Given the description of an element on the screen output the (x, y) to click on. 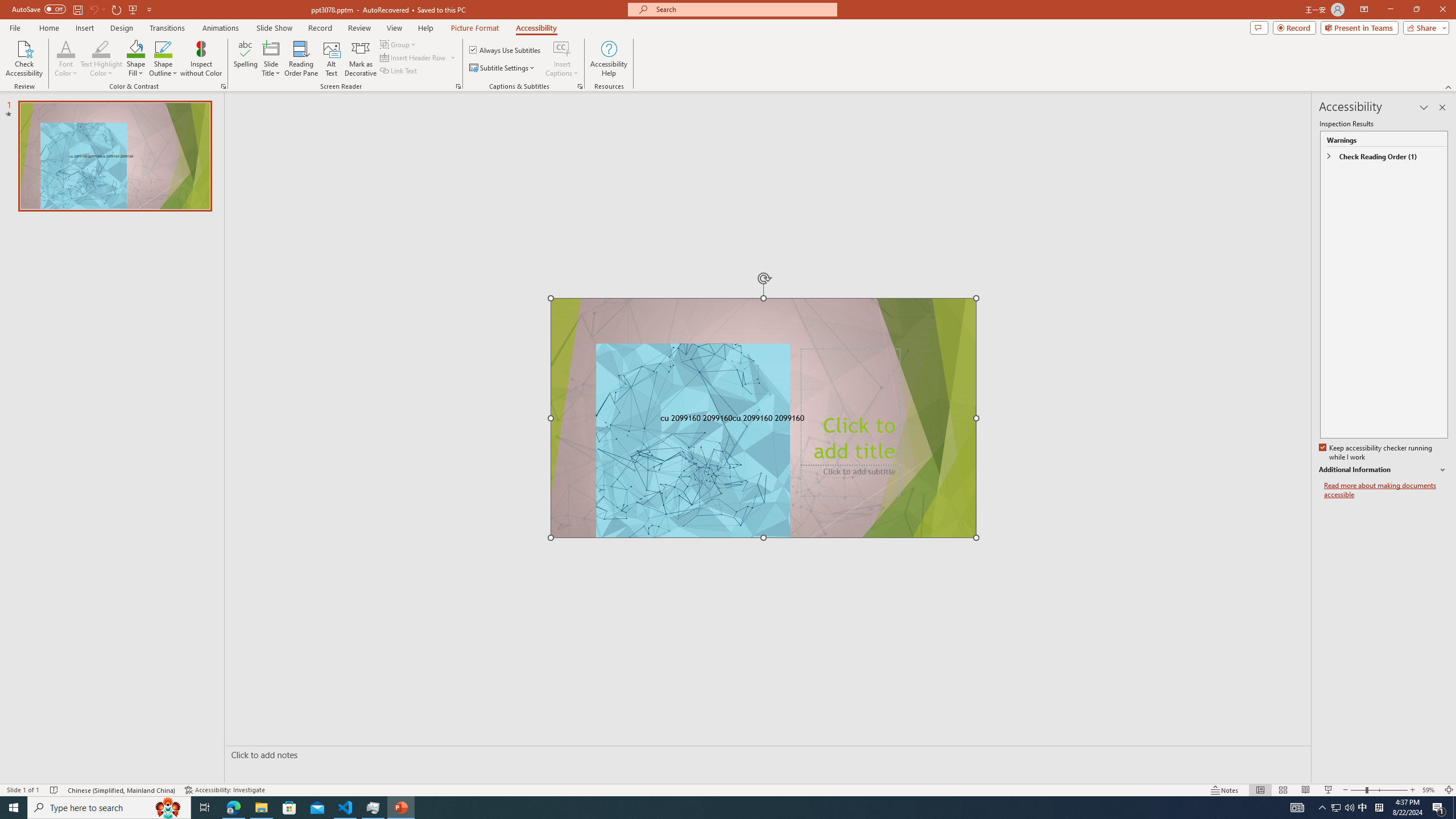
Alt Text (331, 58)
Additional Information (1383, 469)
Shape Outline (163, 58)
Shape Outline Green, Accent 1 (163, 48)
Keep accessibility checker running while I work (1376, 452)
Accessibility Help (608, 58)
Read more about making documents accessible (1385, 489)
Inspect without Color (201, 58)
